Given the description of an element on the screen output the (x, y) to click on. 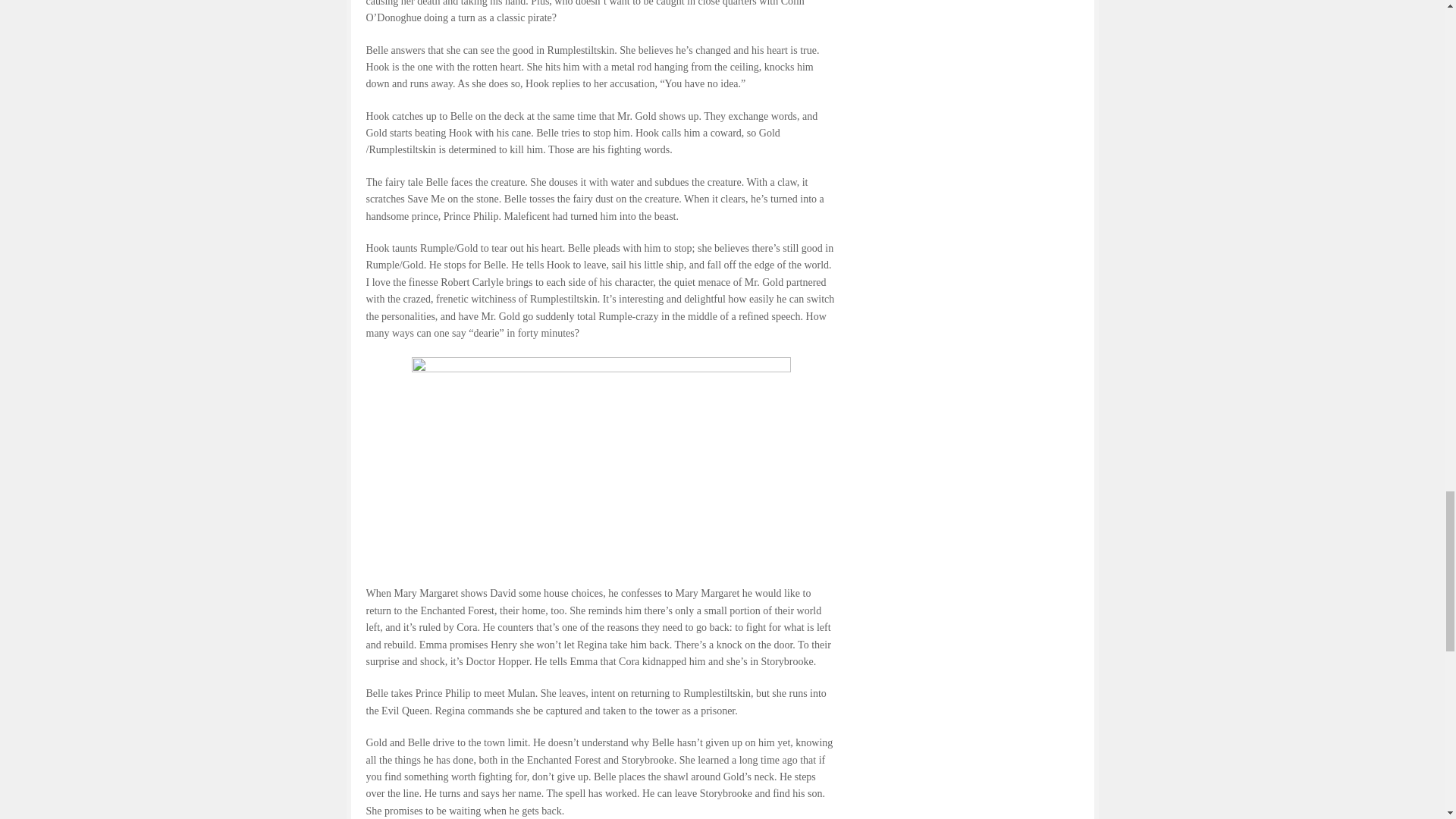
once211-3 (600, 463)
